Given the description of an element on the screen output the (x, y) to click on. 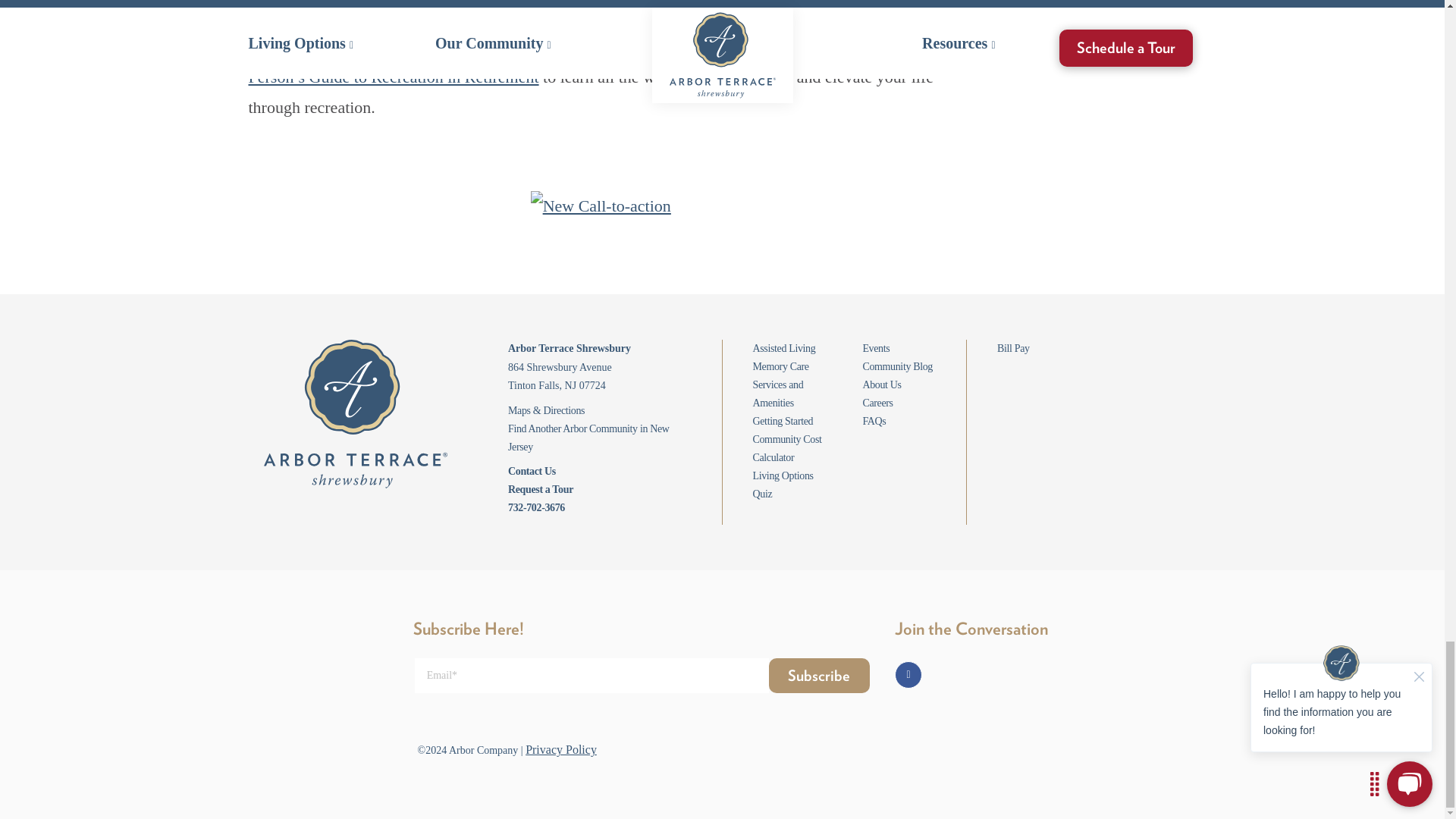
Subscribe (818, 675)
